Given the description of an element on the screen output the (x, y) to click on. 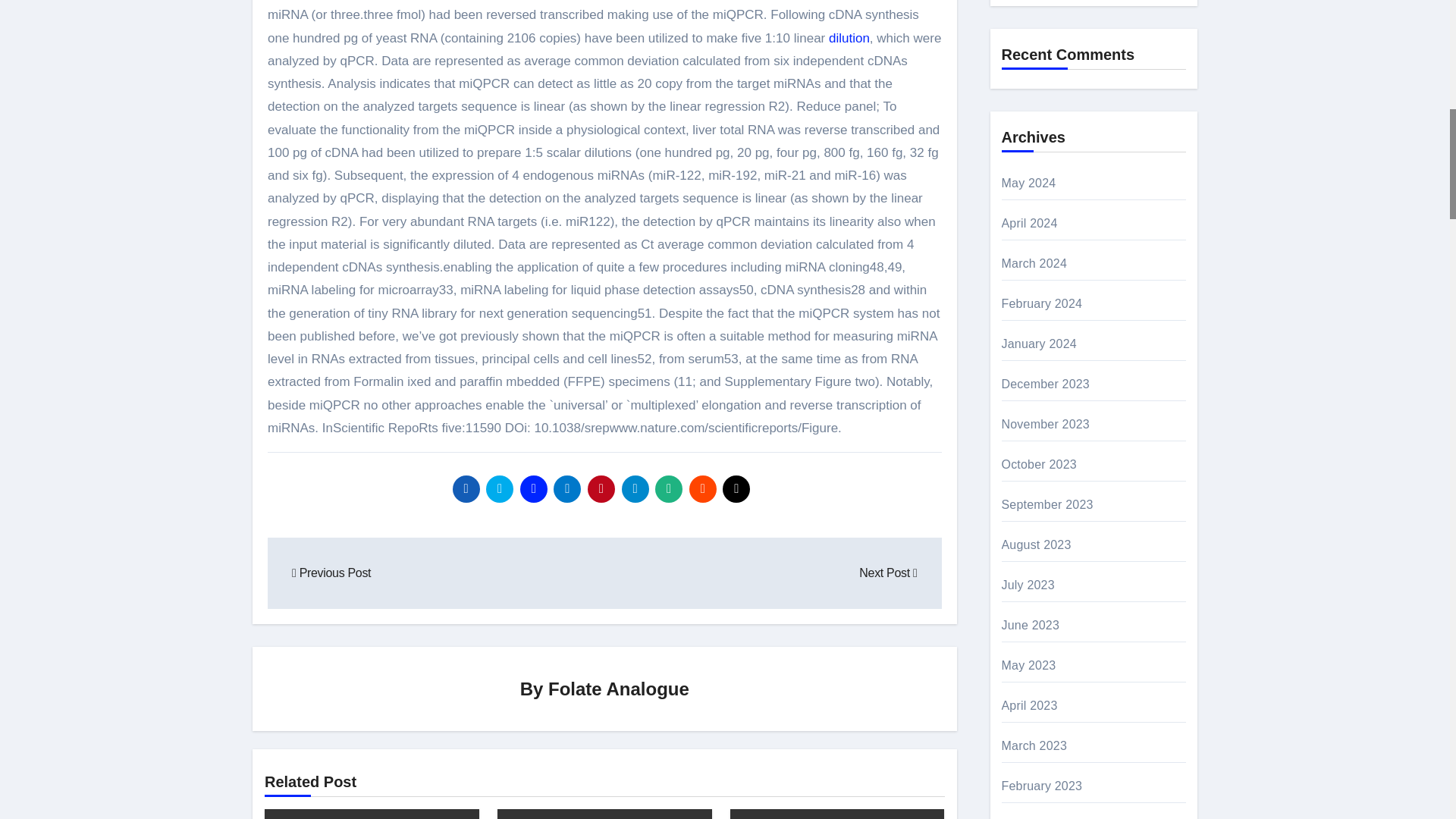
Next Post (888, 572)
Folate Analogue (618, 688)
Previous Post (331, 572)
dilution (848, 38)
